Given the description of an element on the screen output the (x, y) to click on. 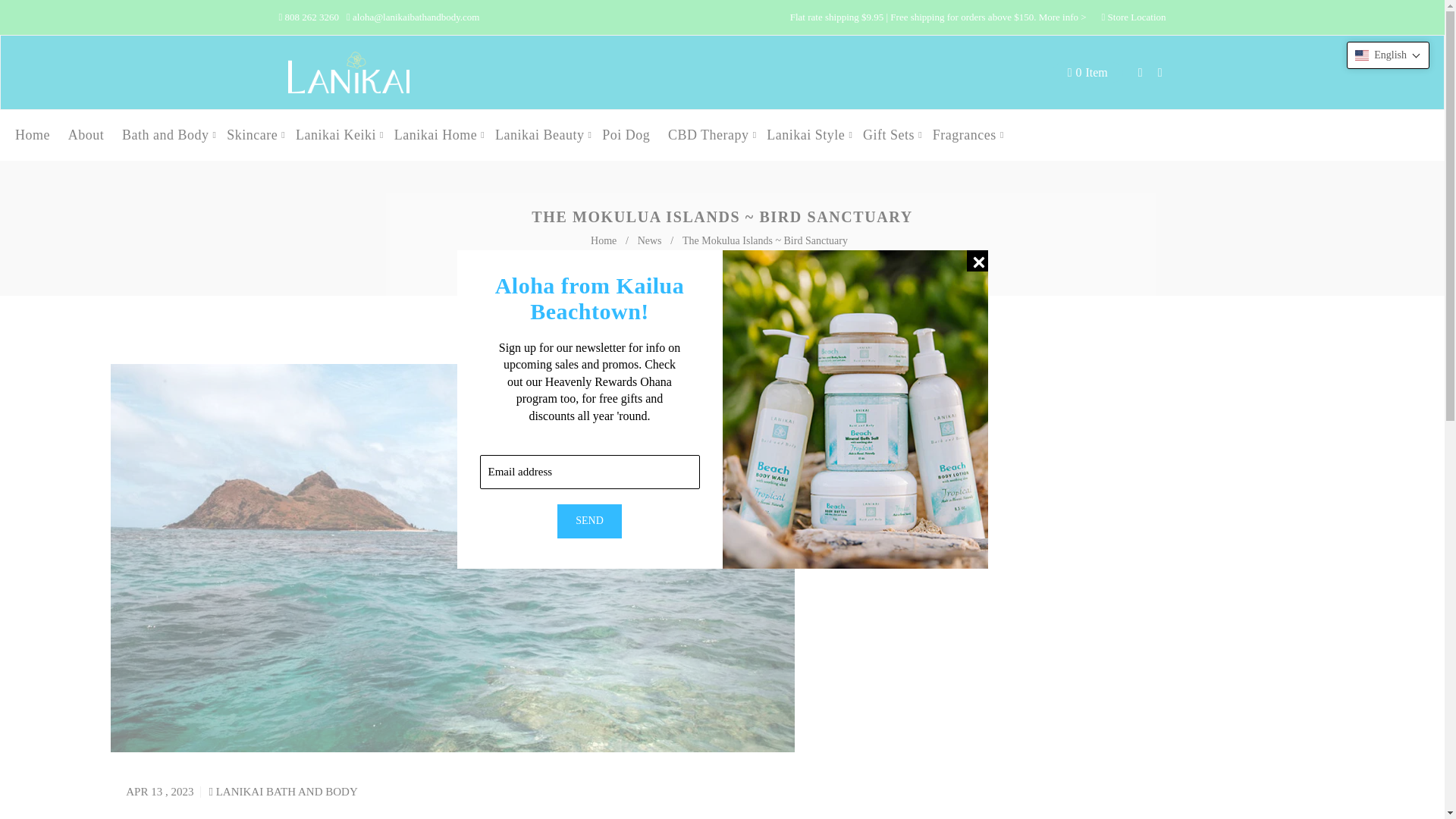
Back to the frontpage (1087, 72)
Store Location (605, 240)
Bath and Body (1137, 16)
About (165, 134)
Send (86, 134)
